Given the description of an element on the screen output the (x, y) to click on. 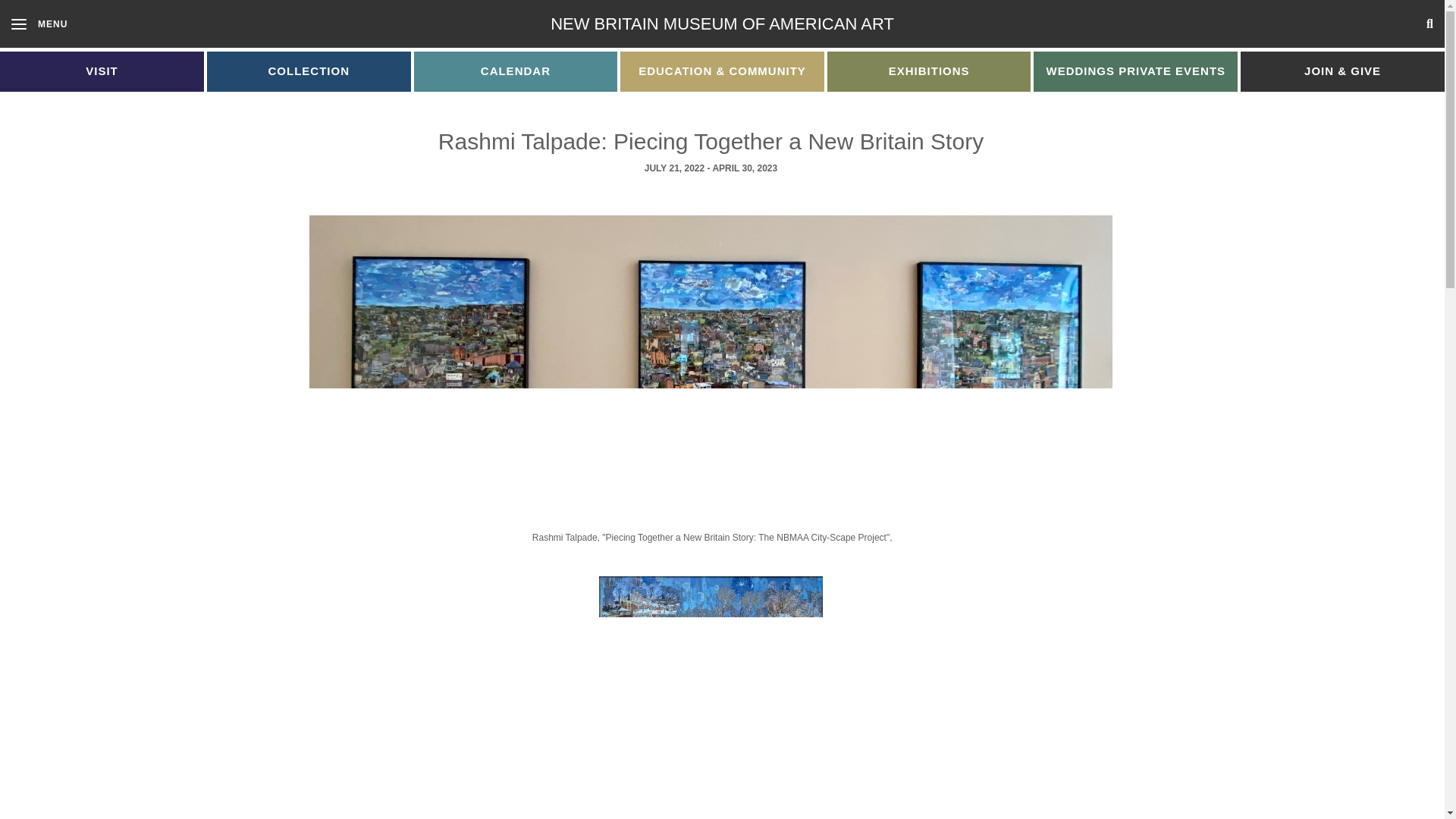
VISIT (101, 71)
COLLECTION (308, 71)
Search: (721, 23)
MENU (1290, 24)
CALENDAR (38, 23)
